Given the description of an element on the screen output the (x, y) to click on. 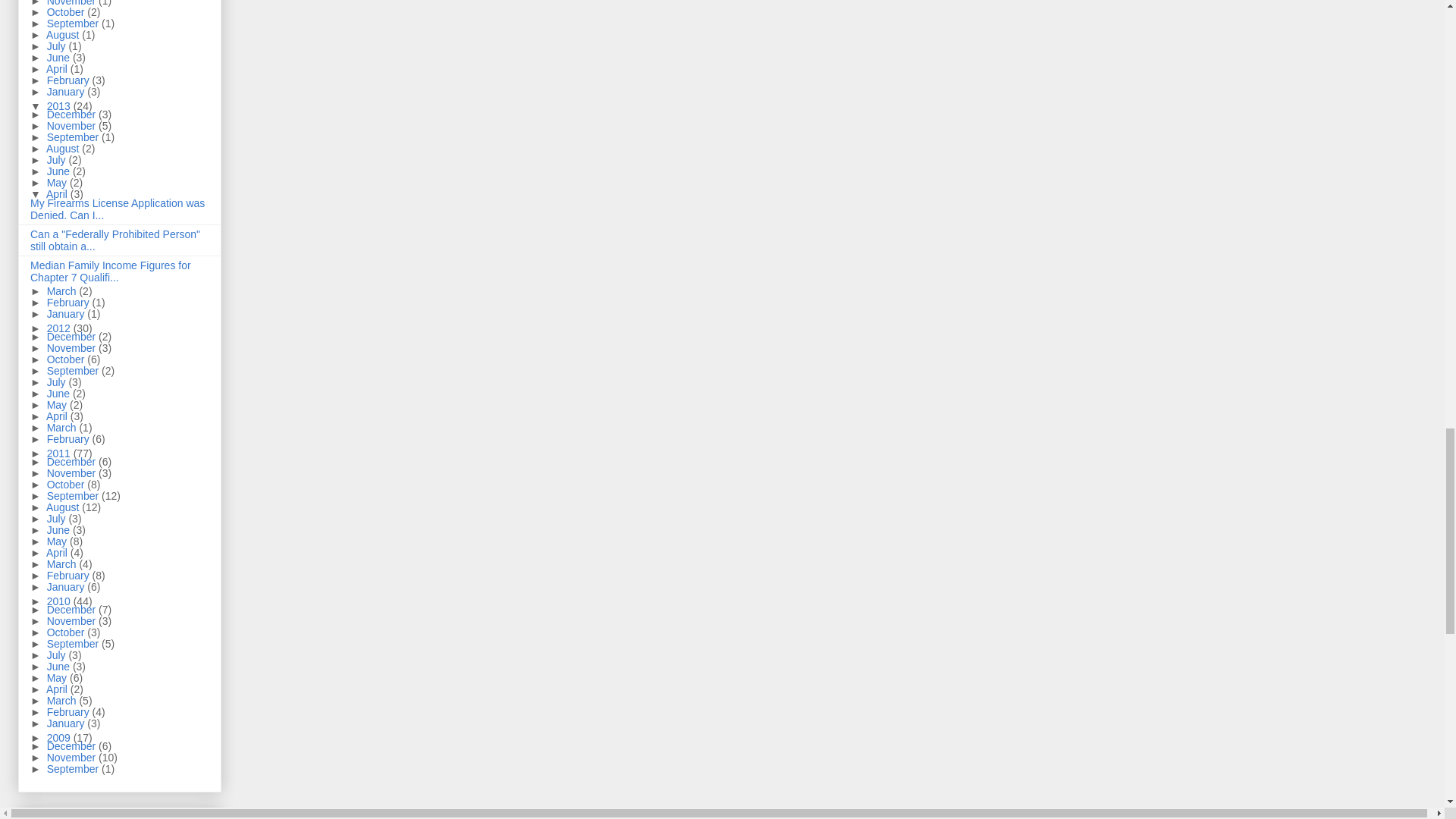
October (66, 11)
September (73, 23)
November (72, 3)
